Given the description of an element on the screen output the (x, y) to click on. 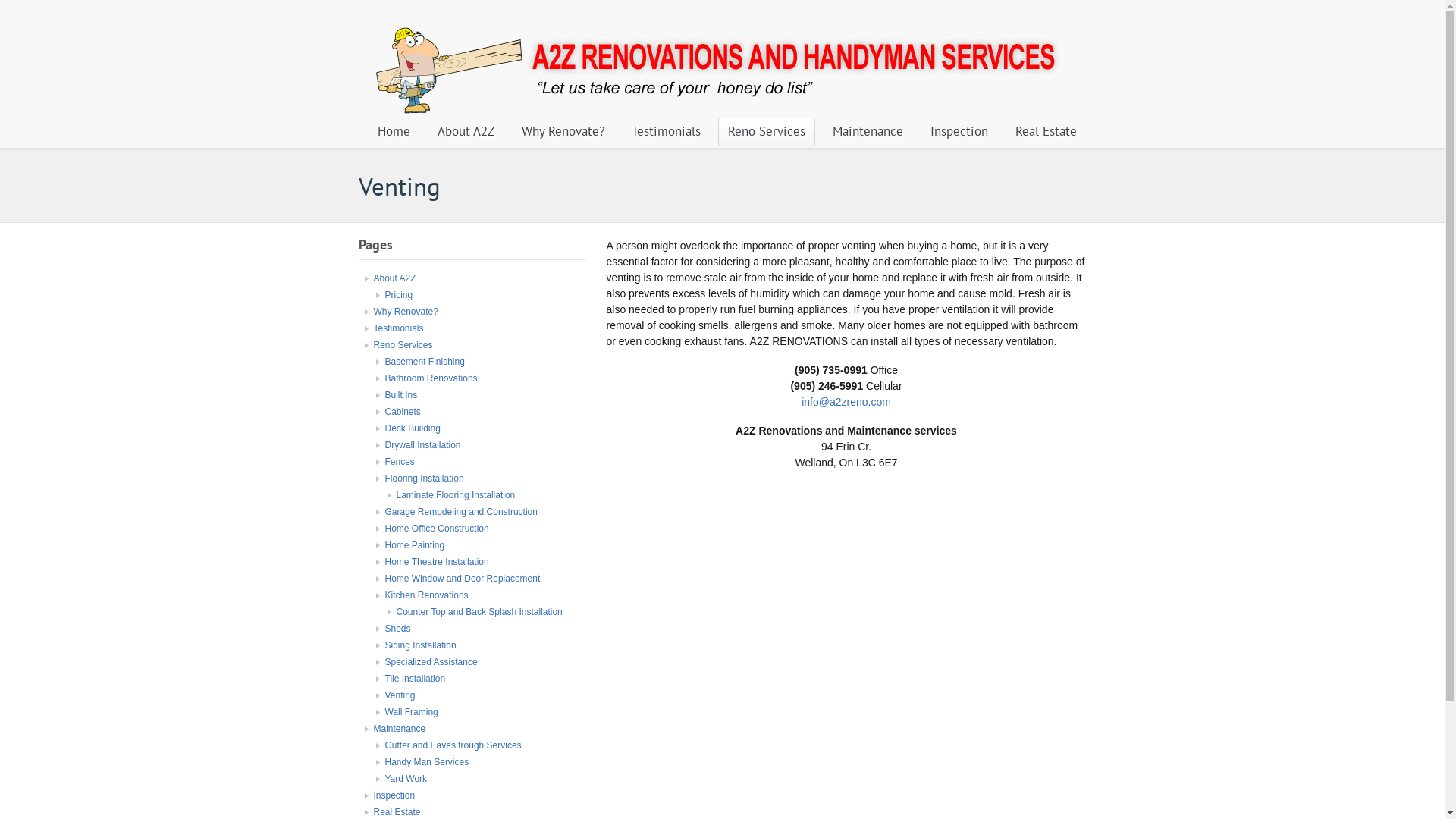
info@a2zreno.com Element type: text (846, 401)
Home Theatre Installation Element type: text (437, 561)
Built Ins Element type: text (401, 394)
Basement Finishing Element type: text (424, 361)
Yard Work Element type: text (406, 778)
Reno Services Element type: text (765, 131)
Home Painting Element type: text (415, 544)
Real Estate Element type: text (1045, 131)
Why Renovate? Element type: text (562, 131)
Specialized Assistance Element type: text (431, 661)
Flooring Installation Element type: text (424, 478)
Testimonials Element type: text (398, 328)
Siding Installation Element type: text (420, 645)
Drywall Installation Element type: text (423, 444)
Home Office Construction Element type: text (437, 528)
Reno Services Element type: text (402, 344)
Venting Element type: text (400, 695)
Deck Building Element type: text (412, 428)
Maintenance Element type: text (399, 728)
Maintenance Element type: text (867, 131)
Inspection Element type: text (393, 795)
Why Renovate? Element type: text (405, 311)
Tile Installation Element type: text (415, 678)
Sheds Element type: text (398, 628)
About A2Z Element type: text (465, 131)
Handy Man Services Element type: text (427, 761)
Real Estate Element type: text (396, 811)
Cabinets Element type: text (402, 411)
Inspection Element type: text (958, 131)
Laminate Flooring Installation Element type: text (454, 494)
About A2Z Element type: text (394, 278)
Garage Remodeling and Construction Element type: text (461, 511)
Pricing Element type: text (399, 294)
Counter Top and Back Splash Installation Element type: text (478, 611)
Testimonials Element type: text (665, 131)
Gutter and Eaves trough Services Element type: text (453, 745)
Bathroom Renovations Element type: text (431, 378)
Home Element type: text (393, 131)
Home Window and Door Replacement Element type: text (462, 578)
Wall Framing Element type: text (411, 711)
Fences Element type: text (399, 461)
Kitchen Renovations Element type: text (426, 594)
